Given the description of an element on the screen output the (x, y) to click on. 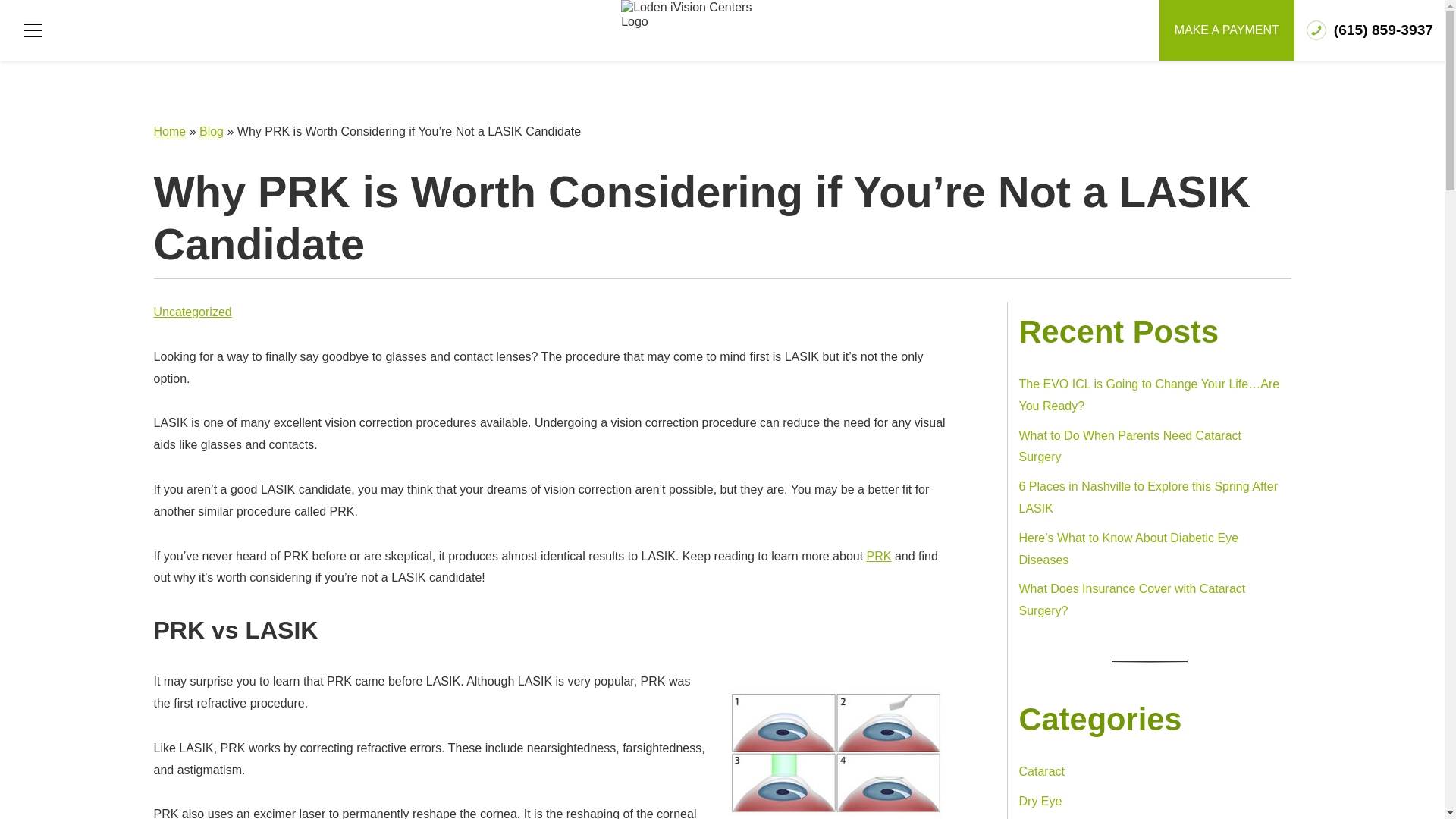
MAKE A PAYMENT (1226, 30)
Loden iVision Centers - Click Here For the Homepage (689, 14)
PRK Nashville (878, 555)
